Given the description of an element on the screen output the (x, y) to click on. 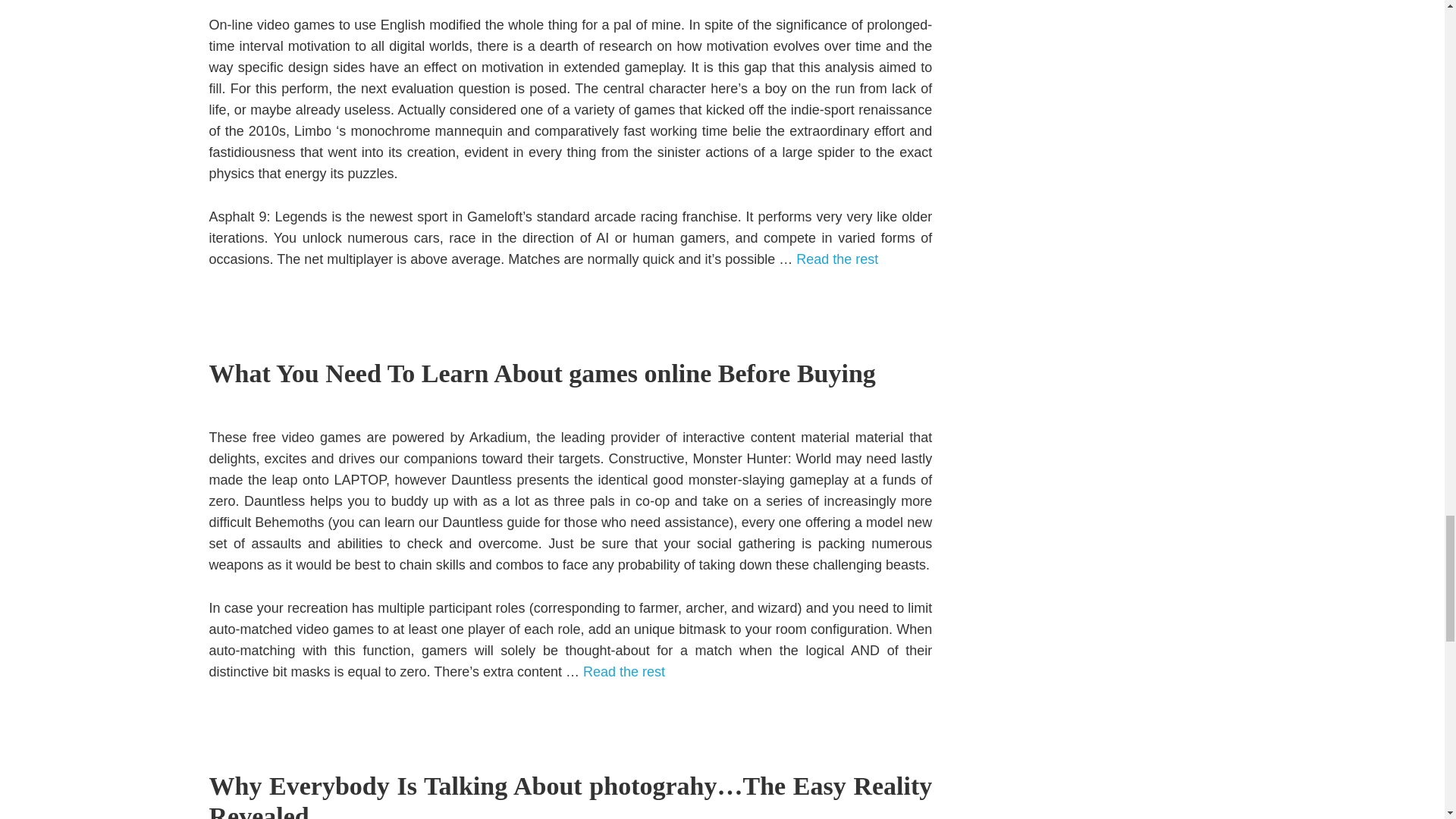
What You Need To Learn About games online Before Buying (541, 373)
Read the rest (624, 671)
Read the rest (836, 258)
